Given the description of an element on the screen output the (x, y) to click on. 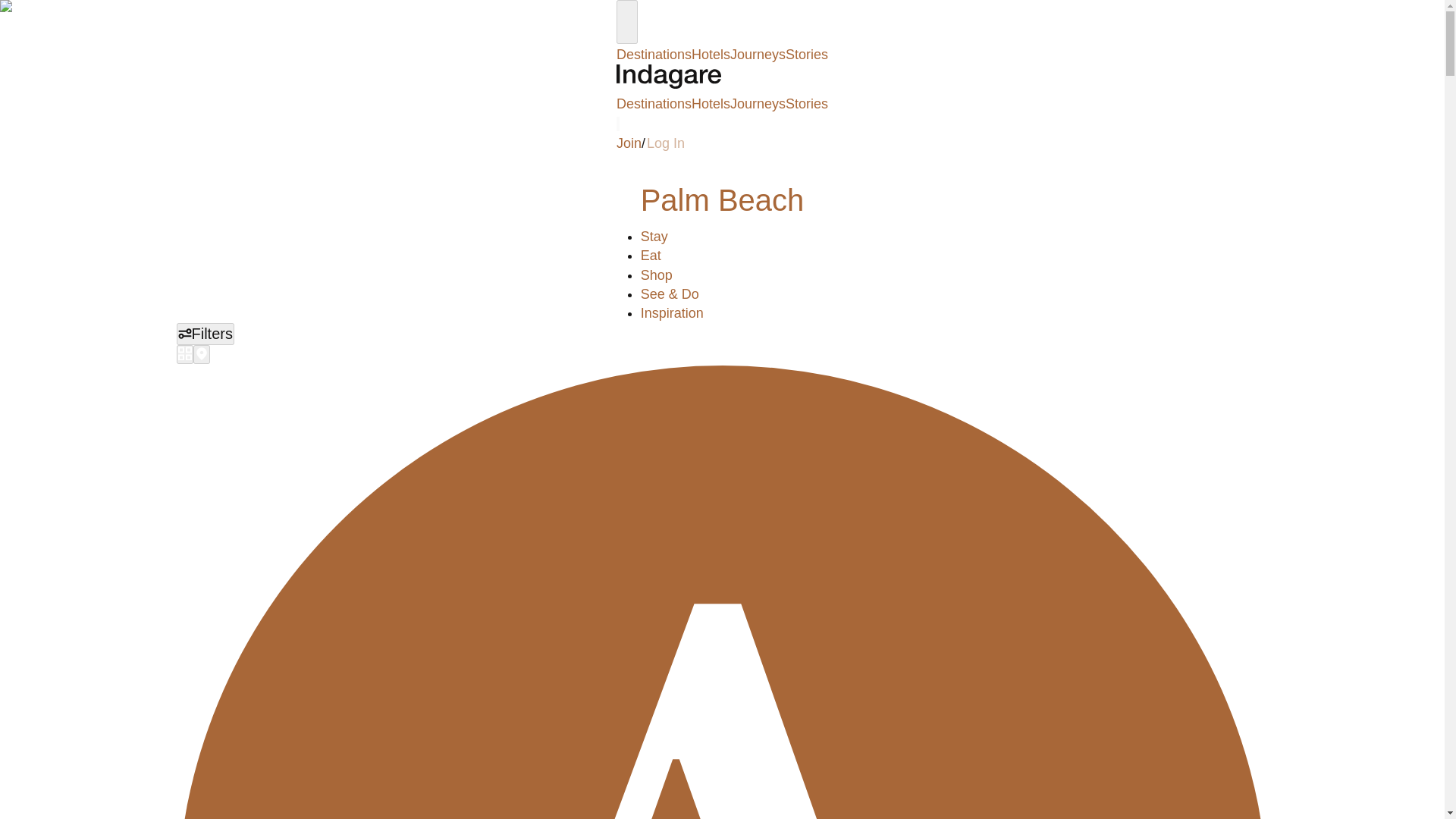
Inspiration (671, 313)
Destinations (653, 103)
Filters (204, 333)
Eat (650, 255)
Hotels (710, 103)
Journeys (758, 54)
Stay (654, 236)
Shop (656, 273)
Join (628, 142)
Palm Beach (722, 200)
Stories (807, 54)
Stories (807, 103)
Destinations (653, 54)
Hotels (710, 54)
Log In (665, 143)
